Given the description of an element on the screen output the (x, y) to click on. 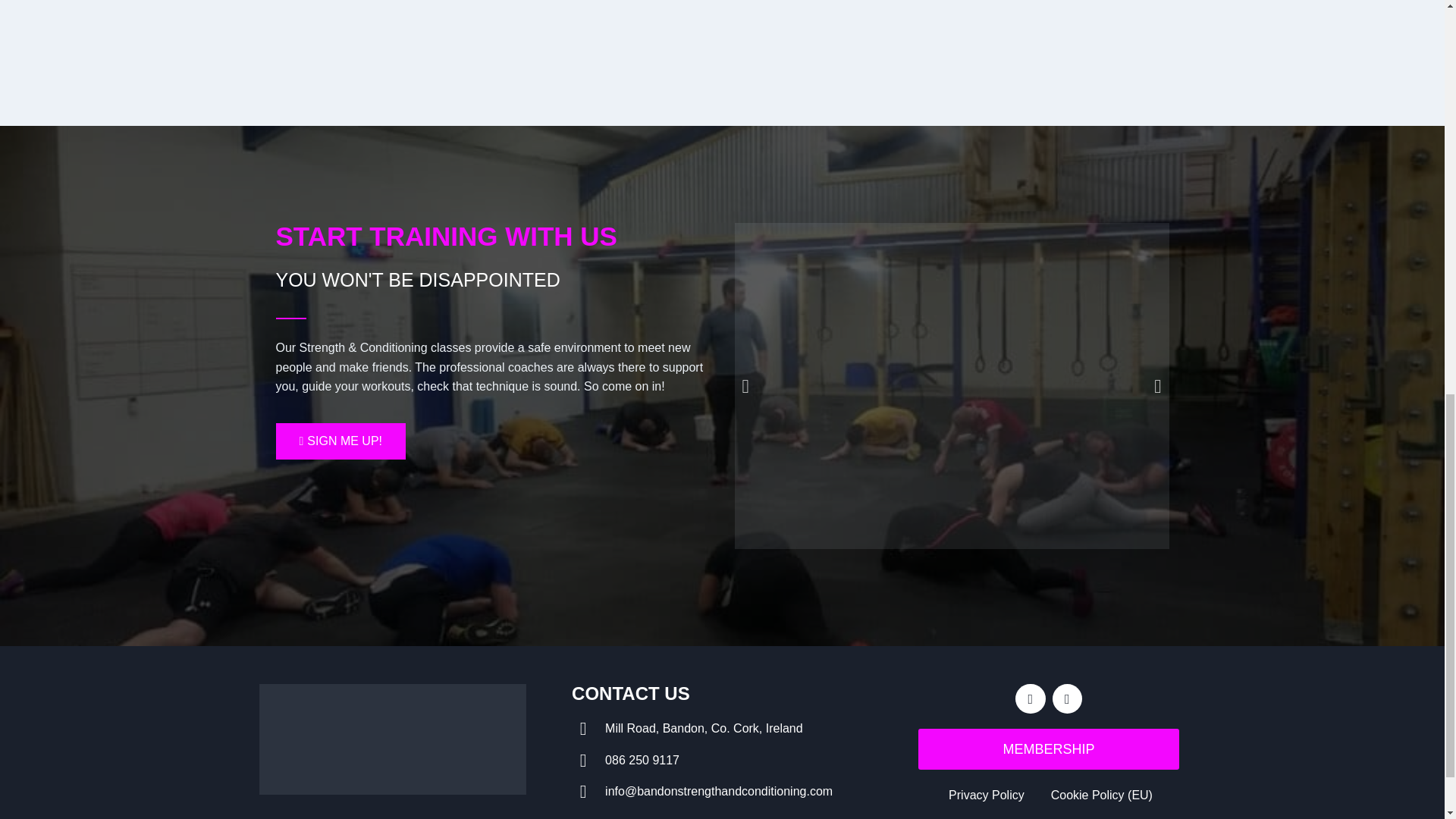
MEMBERSHIP (1048, 748)
Privacy Policy (984, 795)
SIGN ME UP! (341, 441)
086 250 9117 (722, 760)
